Given the description of an element on the screen output the (x, y) to click on. 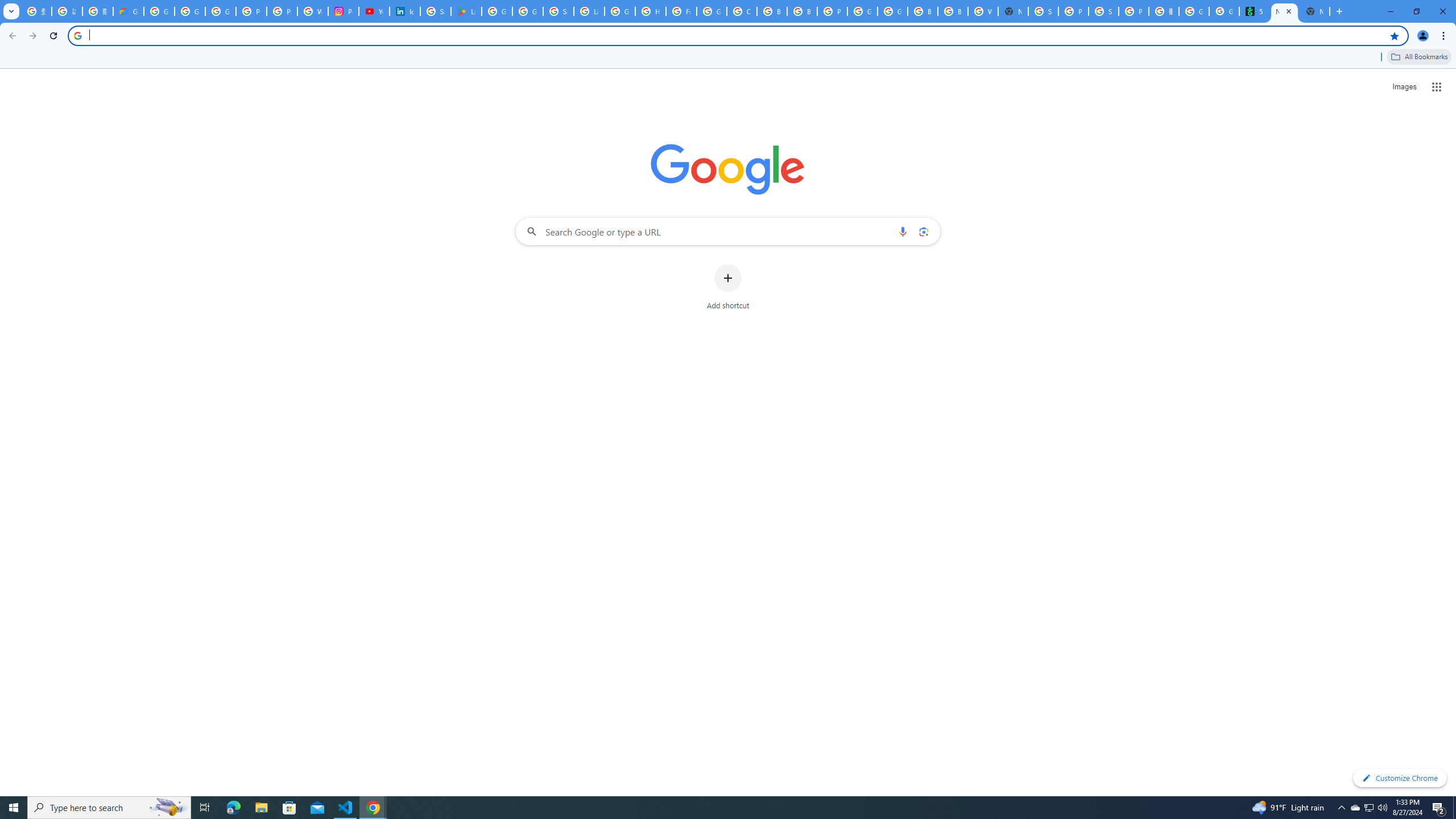
Privacy Help Center - Policies Help (282, 11)
Sign in - Google Accounts (558, 11)
Browse Chrome as a guest - Computer - Google Chrome Help (771, 11)
Customize Chrome (1399, 778)
Google apps (1436, 86)
Browse Chrome as a guest - Computer - Google Chrome Help (801, 11)
